Given the description of an element on the screen output the (x, y) to click on. 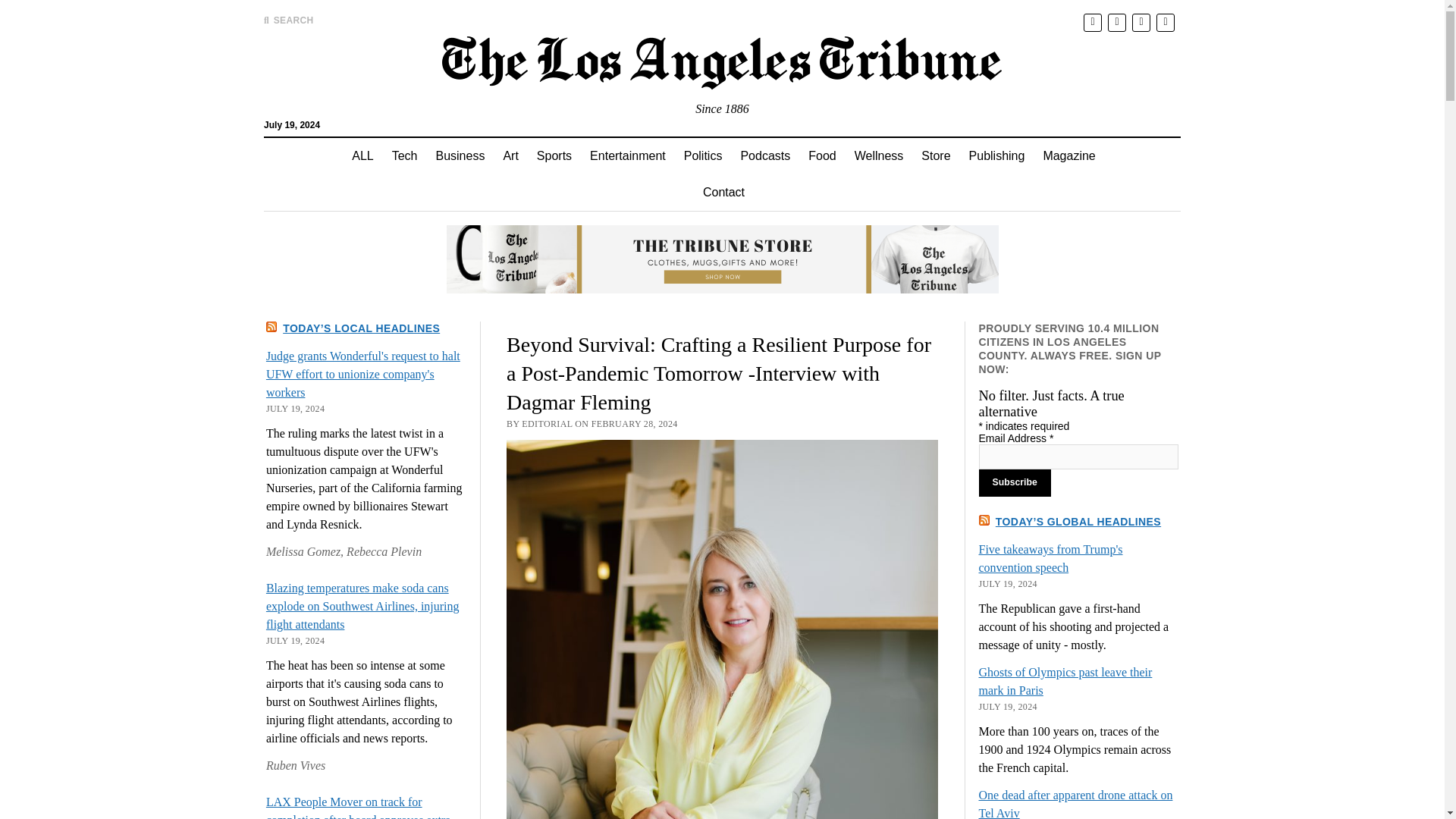
Food (821, 156)
Tech (404, 156)
ALL (361, 156)
Sports (553, 156)
Wellness (878, 156)
Magazine (1068, 156)
Publishing (996, 156)
Search (945, 129)
Subscribe (1014, 482)
Art (510, 156)
Contact (724, 192)
SEARCH (288, 20)
Politics (703, 156)
Entertainment (627, 156)
